Given the description of an element on the screen output the (x, y) to click on. 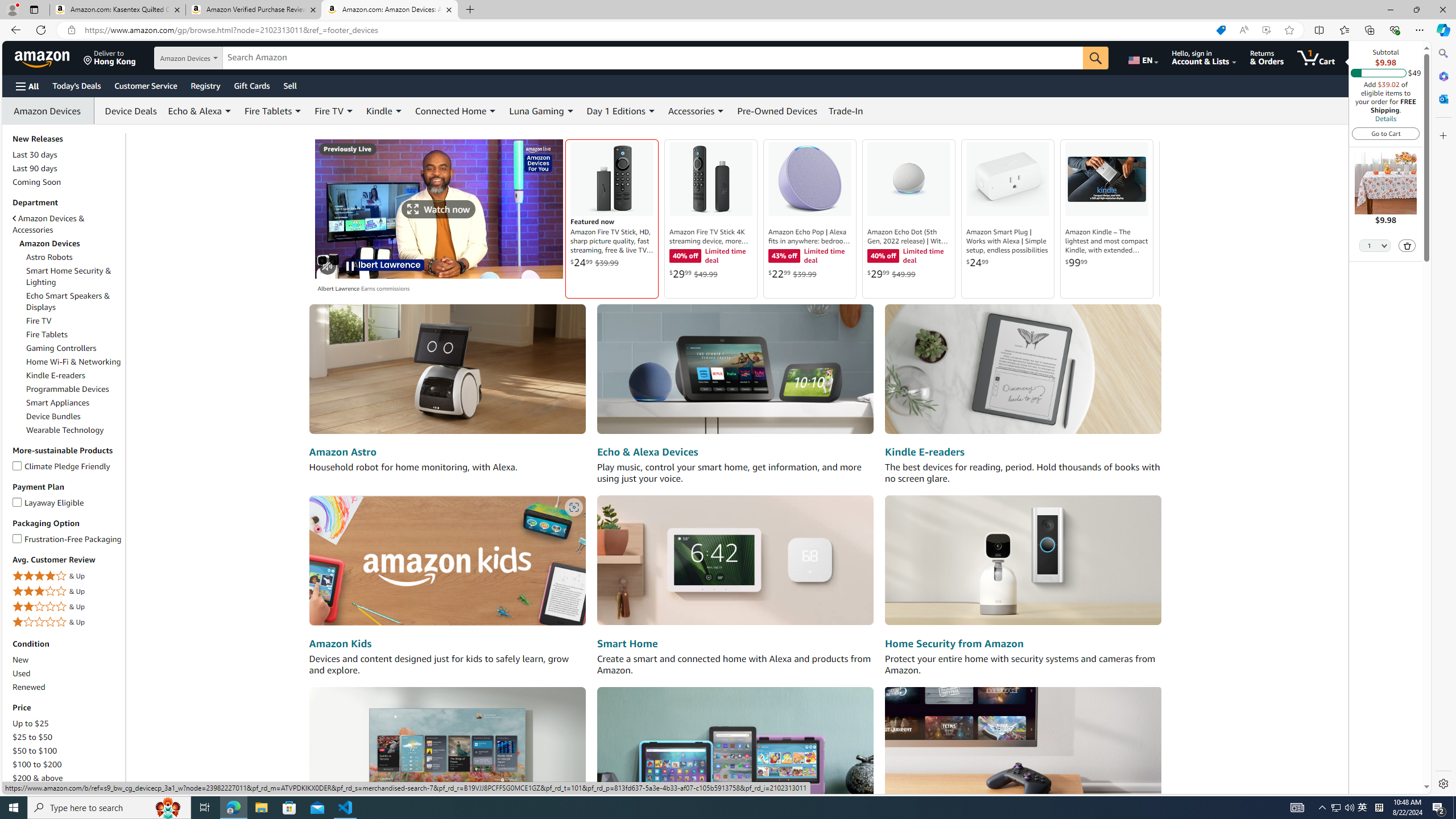
Programmable Devices (74, 388)
Amazon Devices (67, 242)
Watch now (438, 208)
Gaming Controllers (74, 347)
Side bar (1443, 418)
Amazon Verified Purchase Reviews - Amazon Customer Service (253, 9)
Amazon Luna (1022, 751)
Unmute (327, 265)
Choose a language for shopping. (1142, 57)
Delete (1407, 245)
